Given the description of an element on the screen output the (x, y) to click on. 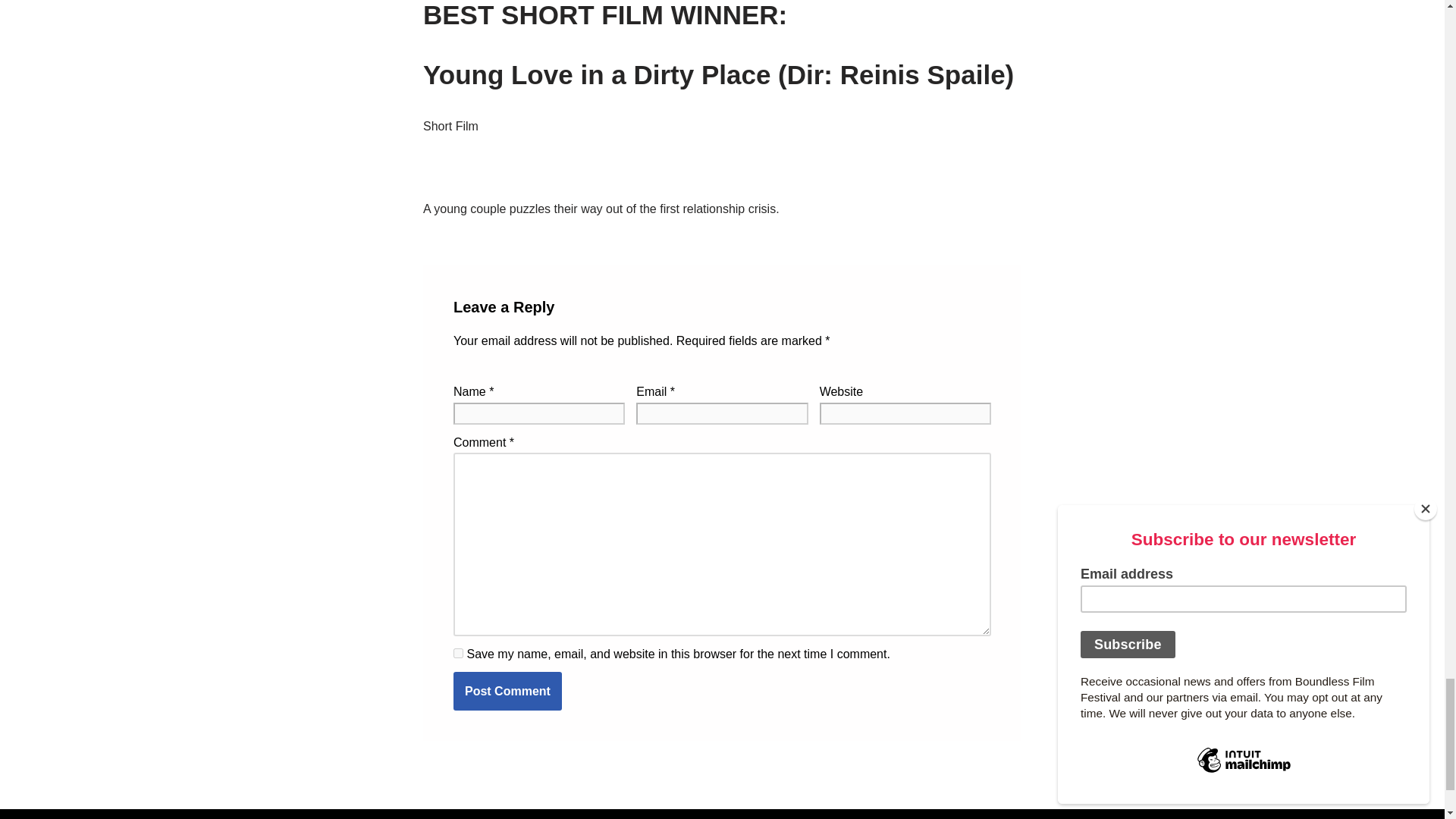
Post Comment (507, 691)
yes (457, 653)
Post Comment (507, 691)
